Given the description of an element on the screen output the (x, y) to click on. 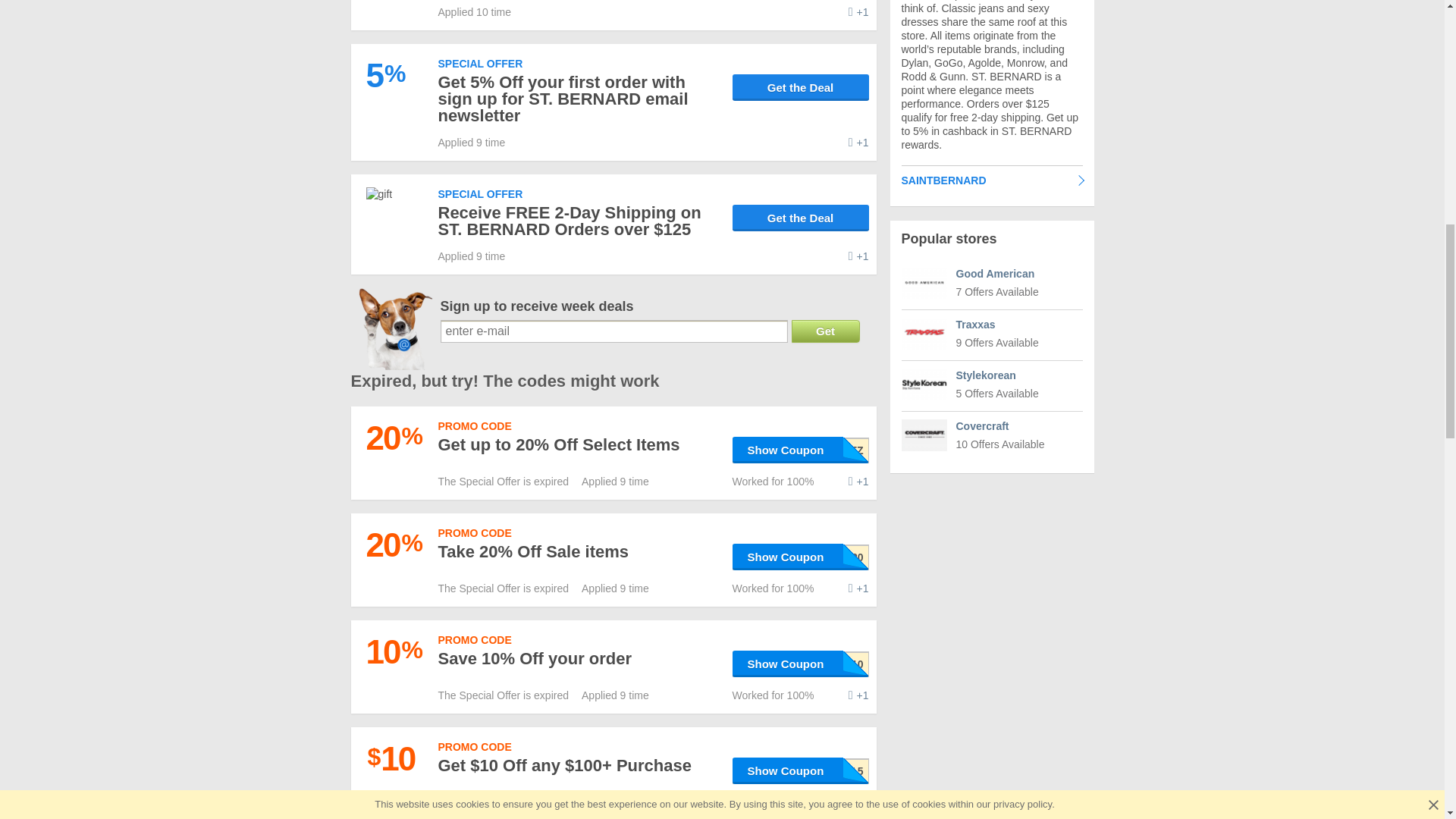
Show Coupon (800, 449)
Show Coupon (800, 556)
Leave your comment  (858, 142)
Leave your comment  (858, 11)
Leave your comment  (858, 481)
Leave your comment  (858, 255)
Get the Deal (800, 217)
Leave your comment  (858, 588)
Get the Deal (800, 87)
